Given the description of an element on the screen output the (x, y) to click on. 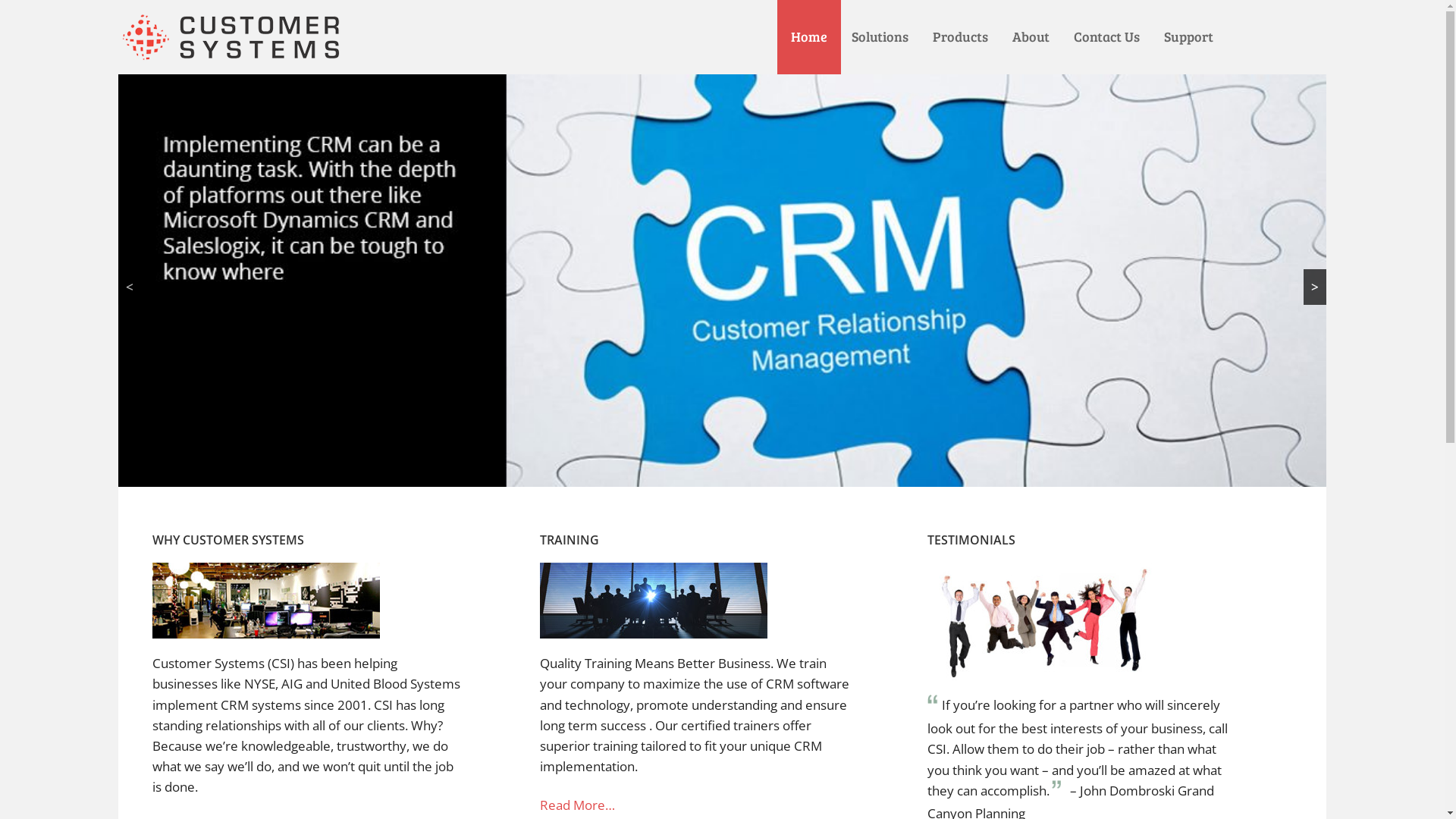
< Element type: text (129, 286)
> Element type: text (1314, 286)
Contact Us Element type: text (1106, 37)
Products Element type: text (960, 37)
Home Element type: text (808, 37)
Support Element type: text (1188, 37)
Solutions Element type: text (879, 37)
About Element type: text (1030, 37)
